Given the description of an element on the screen output the (x, y) to click on. 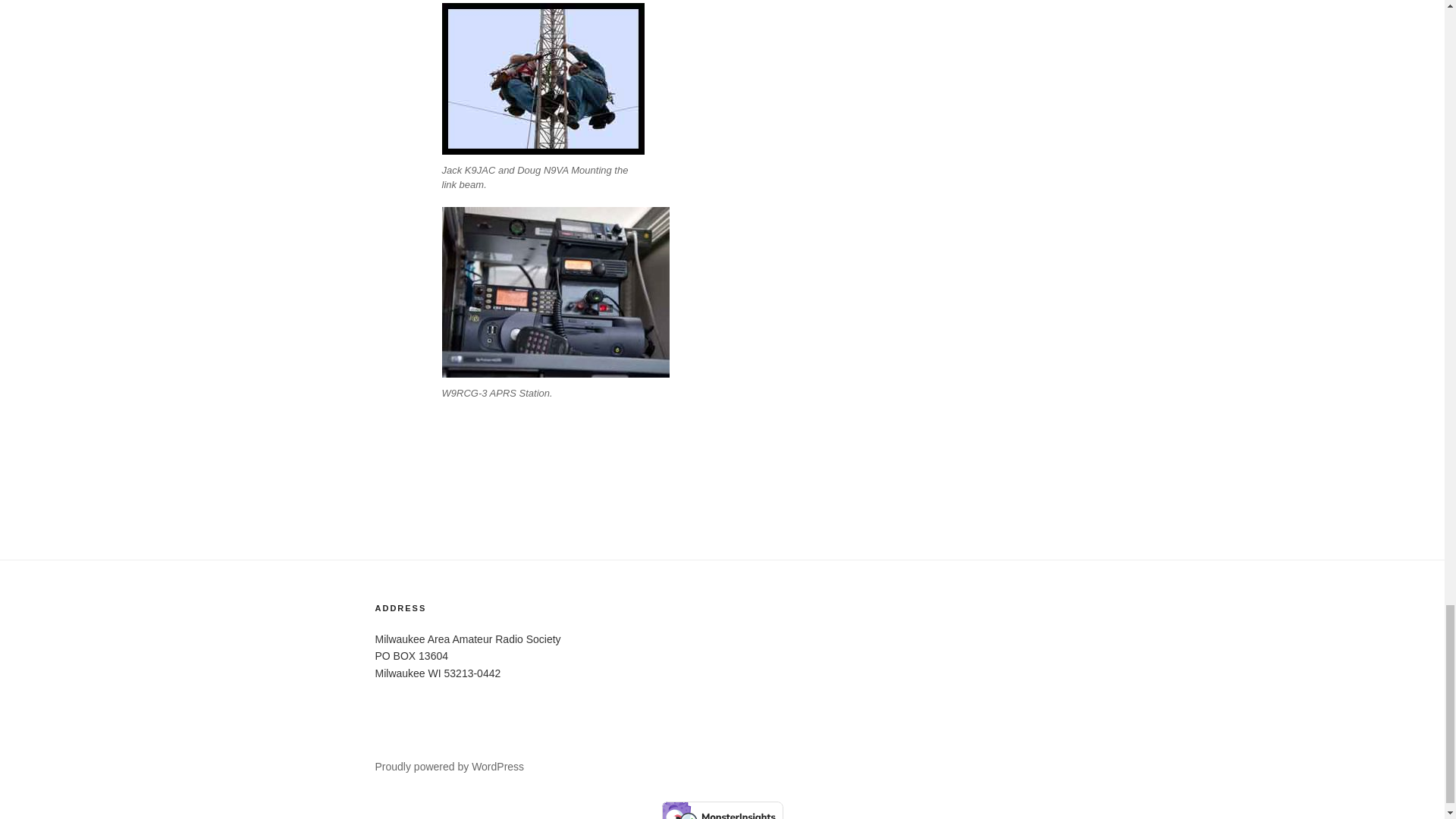
Verified by MonsterInsights (722, 810)
